Given the description of an element on the screen output the (x, y) to click on. 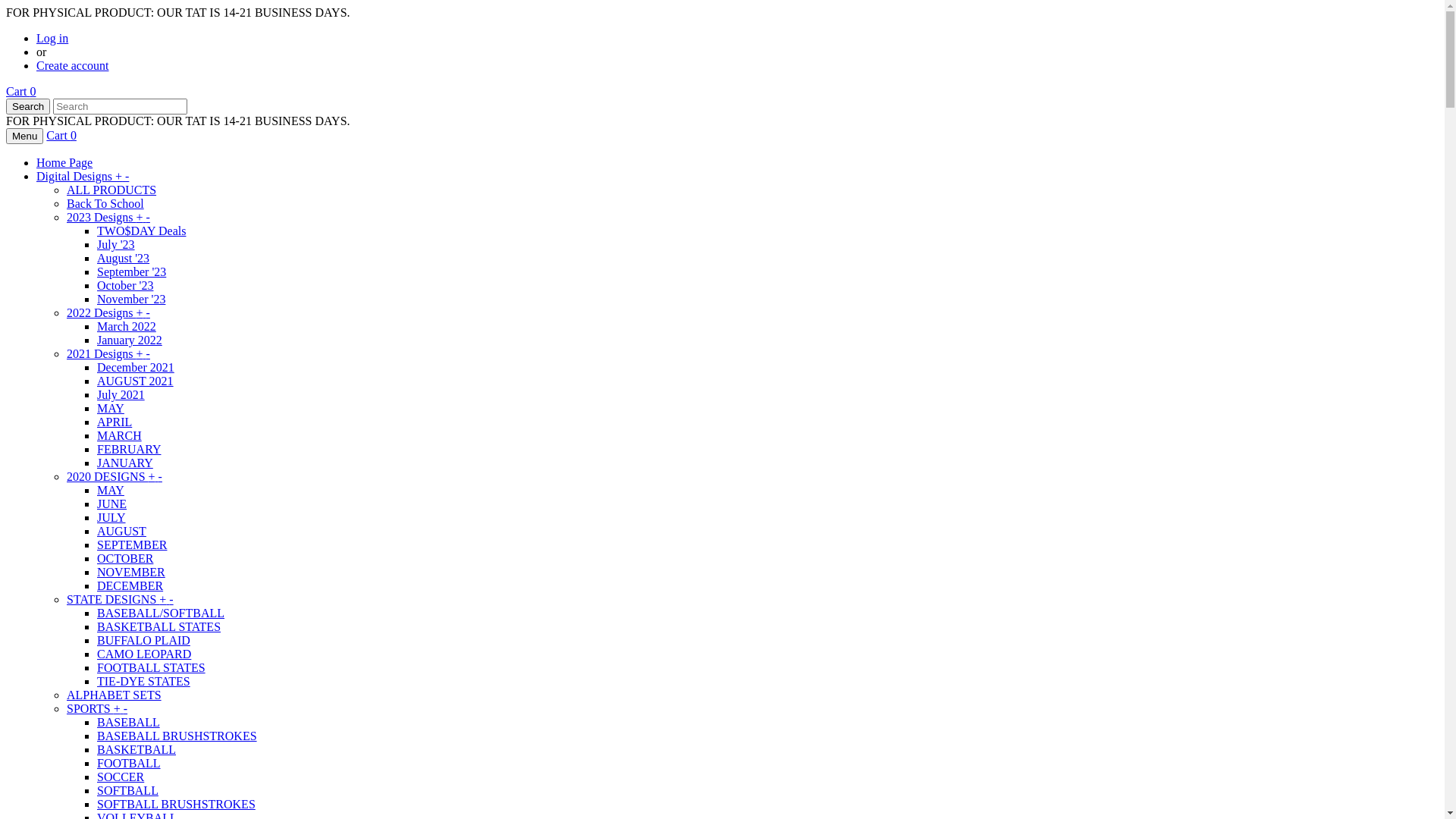
TWO$DAY Deals Element type: text (141, 230)
December 2021 Element type: text (135, 366)
March 2022 Element type: text (126, 326)
FOOTBALL STATES Element type: text (151, 667)
Search Element type: text (28, 106)
AUGUST Element type: text (121, 530)
BASKETBALL Element type: text (136, 749)
FOOTBALL Element type: text (128, 762)
2020 DESIGNS + - Element type: text (114, 476)
Back To School Element type: text (105, 203)
July 2021 Element type: text (120, 394)
2022 Designs + - Element type: text (108, 312)
Log in Element type: text (52, 37)
BASEBALL/SOFTBALL Element type: text (160, 612)
August '23 Element type: text (123, 257)
JANUARY Element type: text (125, 462)
October '23 Element type: text (125, 285)
OCTOBER Element type: text (125, 558)
2021 Designs + - Element type: text (108, 353)
Home Page Element type: text (64, 162)
FEBRUARY Element type: text (128, 448)
MAY Element type: text (110, 407)
SOFTBALL BRUSHSTROKES Element type: text (176, 803)
BASEBALL Element type: text (128, 721)
Menu Element type: text (24, 136)
DECEMBER Element type: text (130, 585)
JULY Element type: text (111, 517)
NOVEMBER Element type: text (131, 571)
SEPTEMBER Element type: text (131, 544)
MAY Element type: text (110, 489)
ALPHABET SETS Element type: text (113, 694)
Create account Element type: text (72, 65)
November '23 Element type: text (131, 298)
AUGUST 2021 Element type: text (135, 380)
January 2022 Element type: text (129, 339)
TIE-DYE STATES Element type: text (143, 680)
BUFFALO PLAID Element type: text (143, 639)
Cart 0 Element type: text (21, 90)
2023 Designs + - Element type: text (108, 216)
SOFTBALL Element type: text (127, 790)
Cart 0 Element type: text (61, 134)
Digital Designs + - Element type: text (82, 175)
STATE DESIGNS + - Element type: text (119, 599)
BASKETBALL STATES Element type: text (158, 626)
SPORTS + - Element type: text (96, 708)
ALL PRODUCTS Element type: text (111, 189)
SOCCER Element type: text (120, 776)
CAMO LEOPARD Element type: text (144, 653)
JUNE Element type: text (111, 503)
September '23 Element type: text (131, 271)
BASEBALL BRUSHSTROKES Element type: text (177, 735)
MARCH Element type: text (119, 435)
July '23 Element type: text (115, 244)
APRIL Element type: text (114, 421)
